Given the description of an element on the screen output the (x, y) to click on. 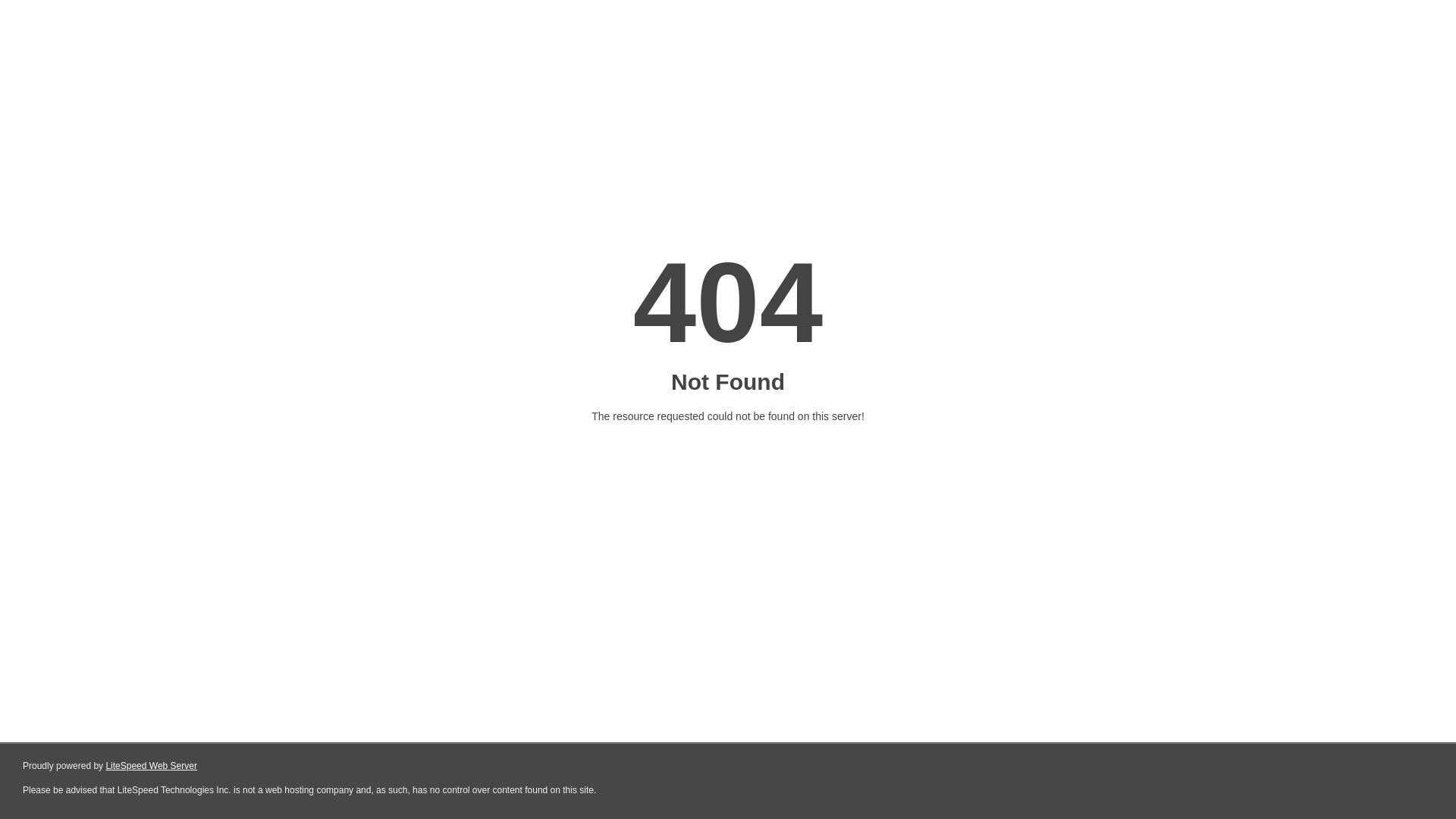
LiteSpeed Web Server Element type: text (151, 765)
